Given the description of an element on the screen output the (x, y) to click on. 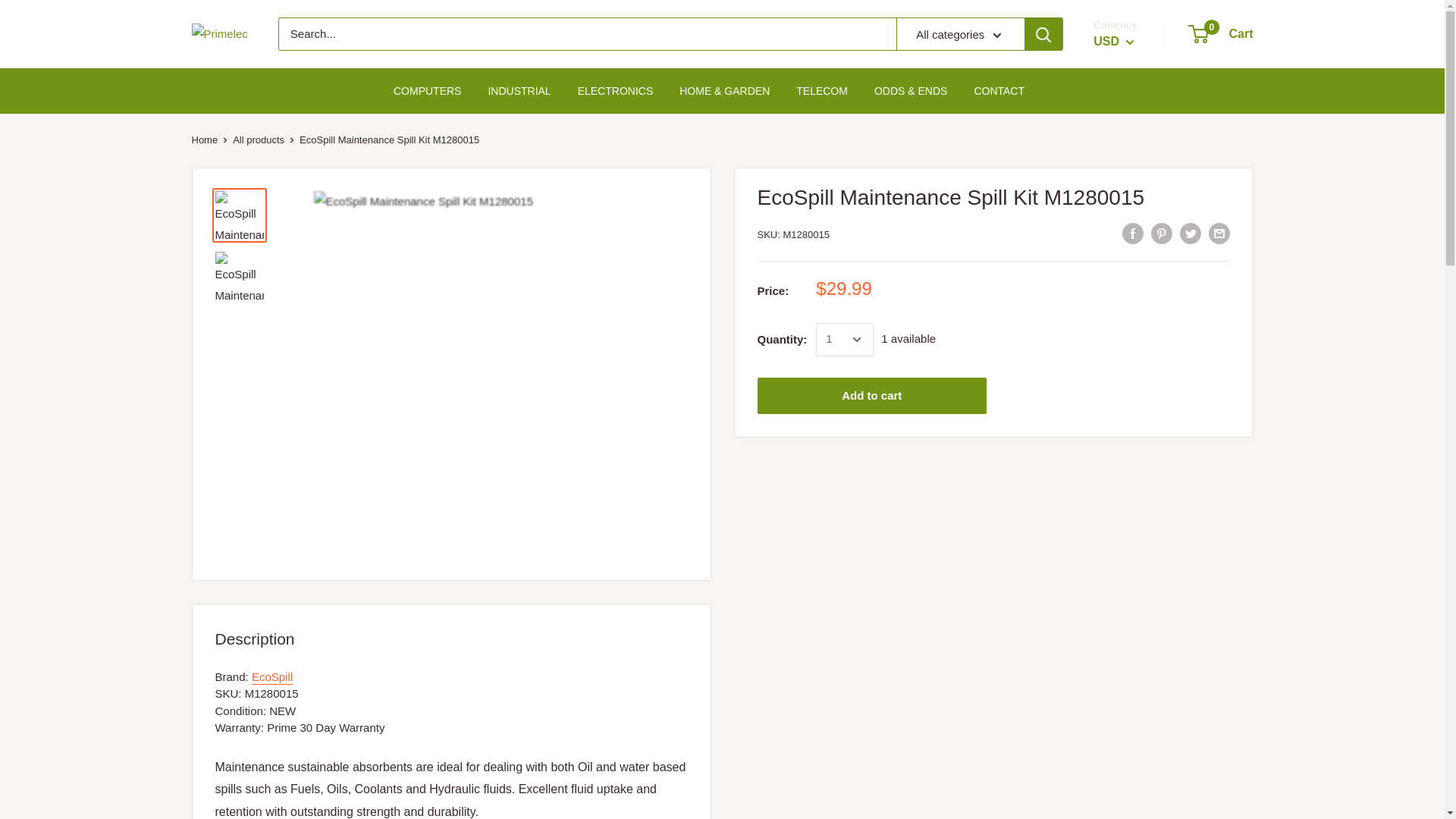
AUD (1128, 319)
AED (1128, 209)
BDT (1128, 428)
ALL (1128, 253)
AFN (1128, 232)
USD (1113, 41)
BAM (1128, 385)
BND (1128, 494)
AMD (1128, 275)
BIF (1128, 472)
